Given the description of an element on the screen output the (x, y) to click on. 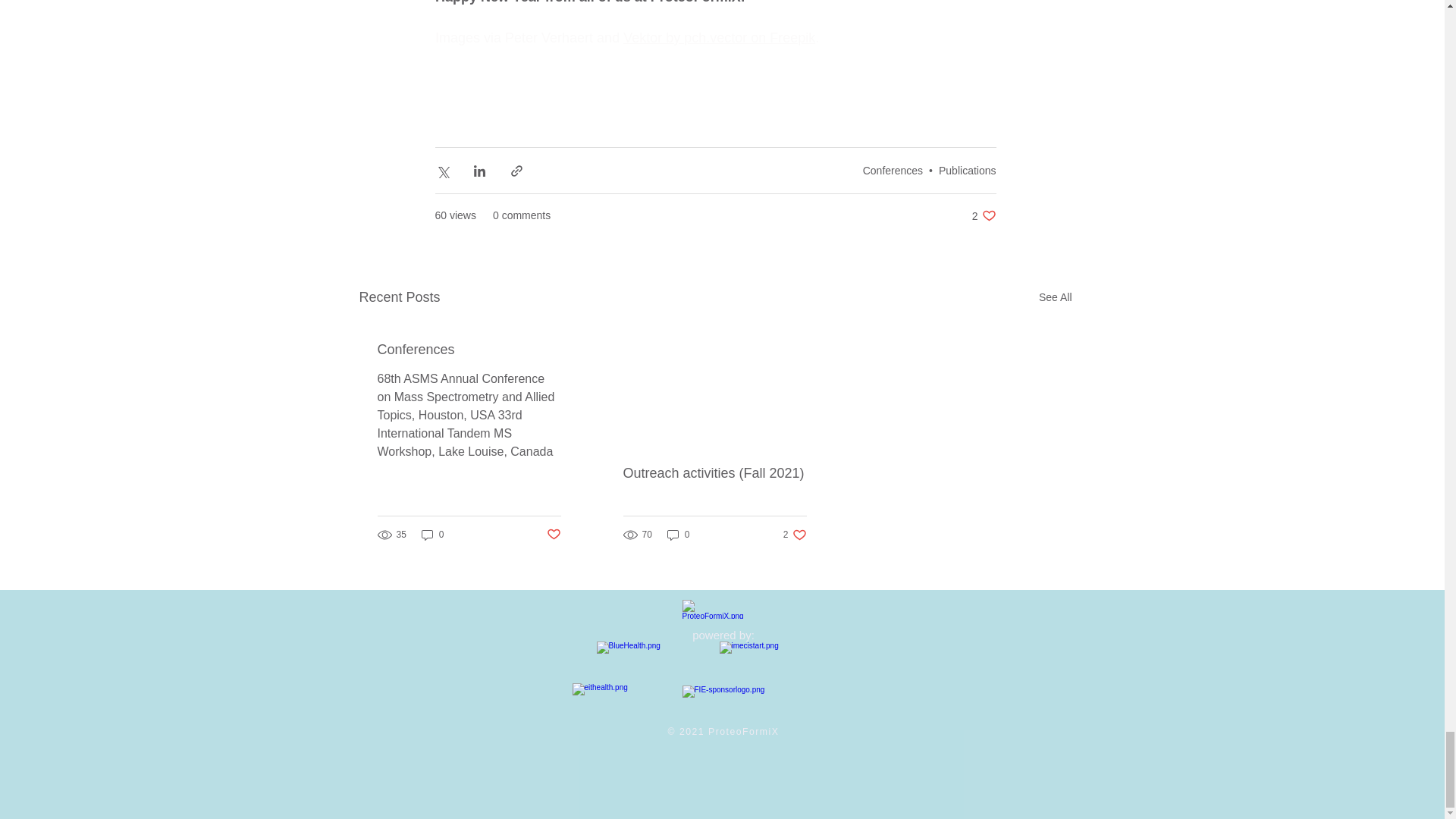
Vektor by pch.vector on Freepik (719, 37)
See All (1055, 297)
Conferences (893, 170)
0 (432, 534)
Conferences (468, 349)
Publications (967, 170)
